Given the description of an element on the screen output the (x, y) to click on. 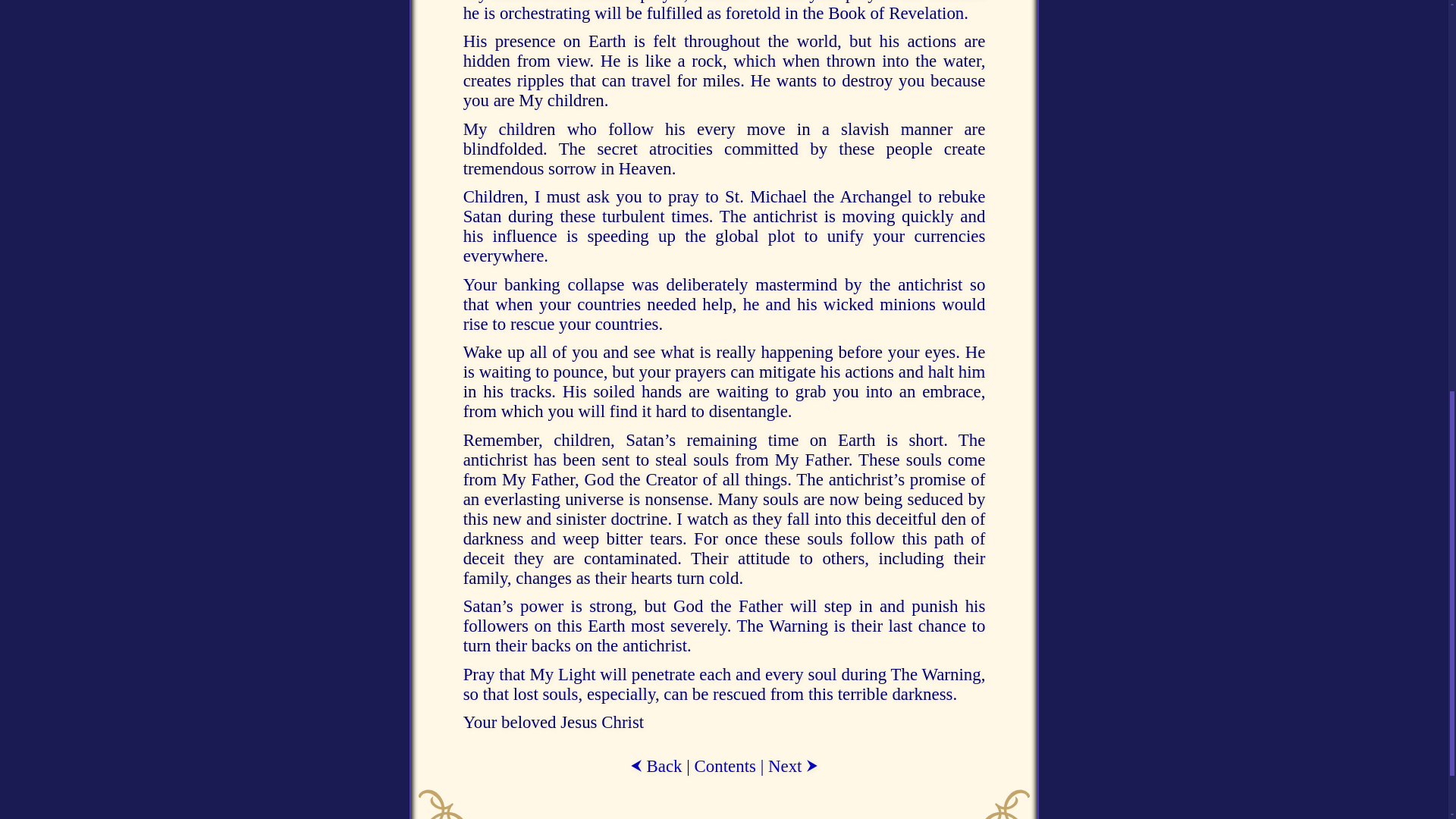
Contents (724, 765)
